Given the description of an element on the screen output the (x, y) to click on. 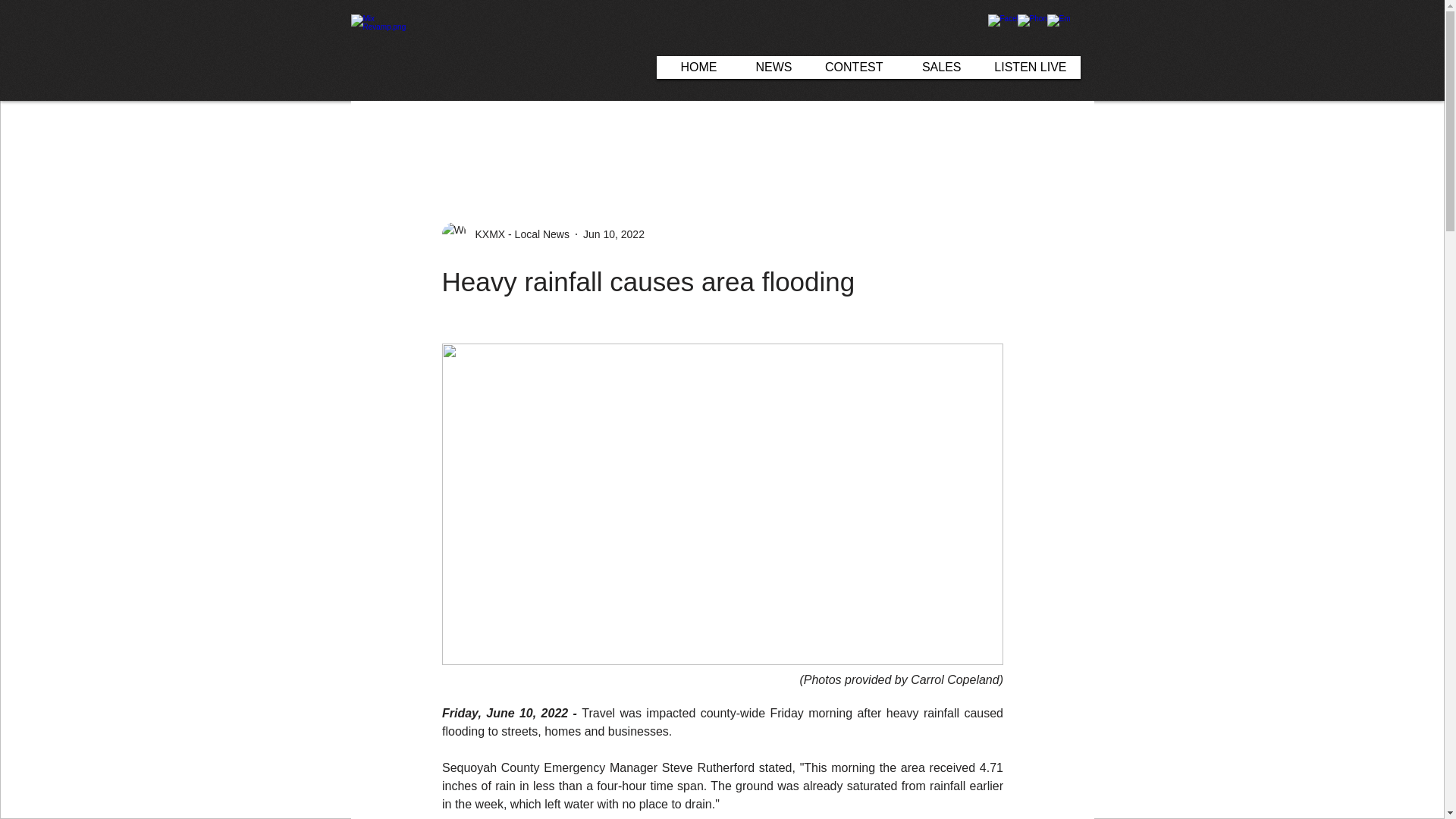
NEWS (768, 67)
Jun 10, 2022 (614, 233)
SALES (935, 67)
KXMX - Local News (505, 233)
KXMX - Local News (517, 233)
CONTEST (850, 67)
HOME (693, 67)
LISTEN LIVE (1027, 67)
